Given the description of an element on the screen output the (x, y) to click on. 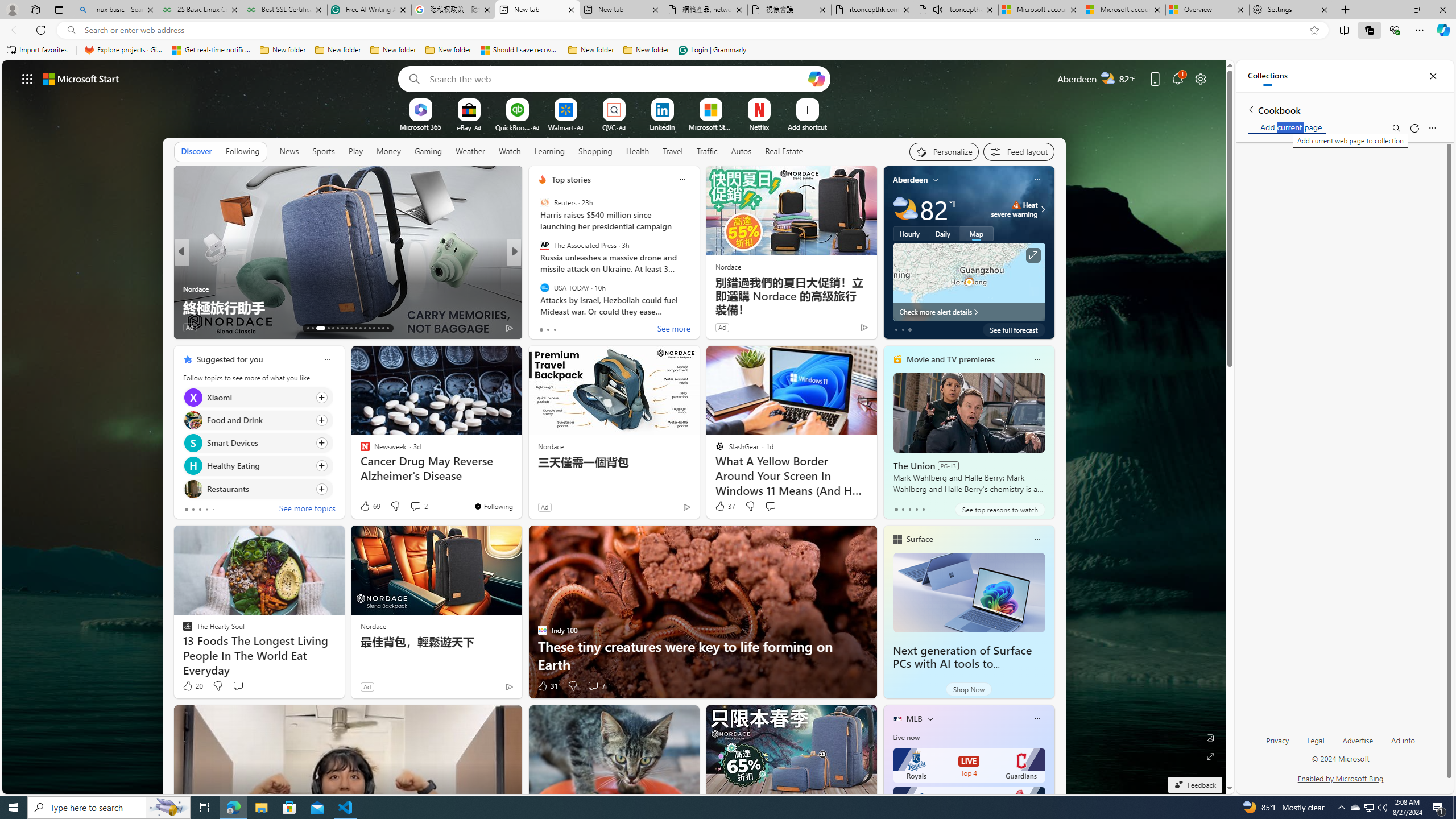
Learn both Singing & Healing (697, 307)
Partly cloudy (904, 208)
Class: weather-arrow-glyph (1043, 208)
508 Like (545, 327)
Import favorites (36, 49)
AutomationID: tab-13 (307, 328)
INSIDER (537, 270)
itconcepthk.com/projector_solutions.mp4 - Audio playing (956, 9)
Larger map  (968, 282)
